Given the description of an element on the screen output the (x, y) to click on. 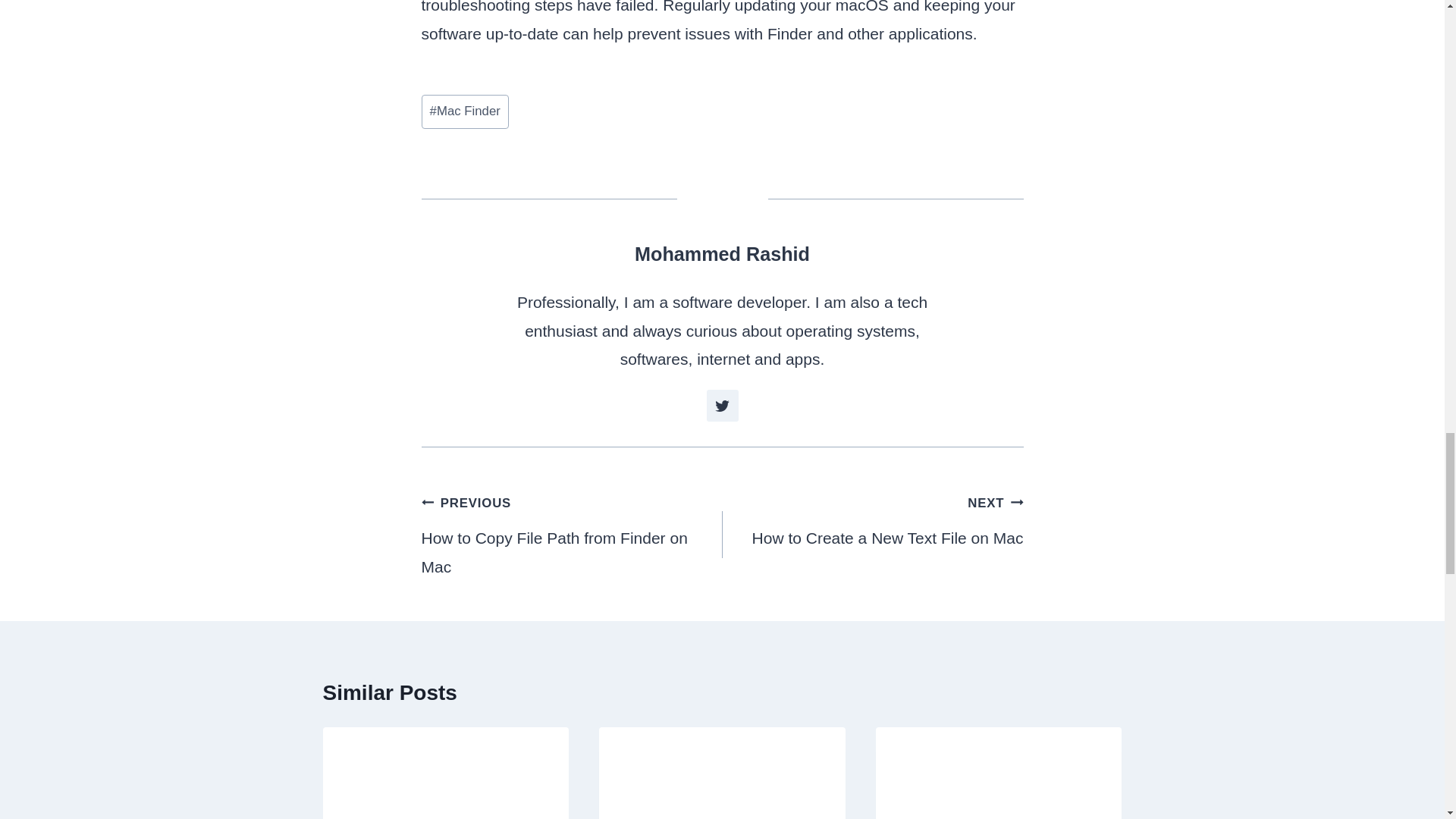
Mohammed Rashid (721, 253)
Posts by Mohammed Rashid (872, 519)
Follow Mohammed Rashid on Twitter (572, 534)
Mac Finder (721, 253)
